Given the description of an element on the screen output the (x, y) to click on. 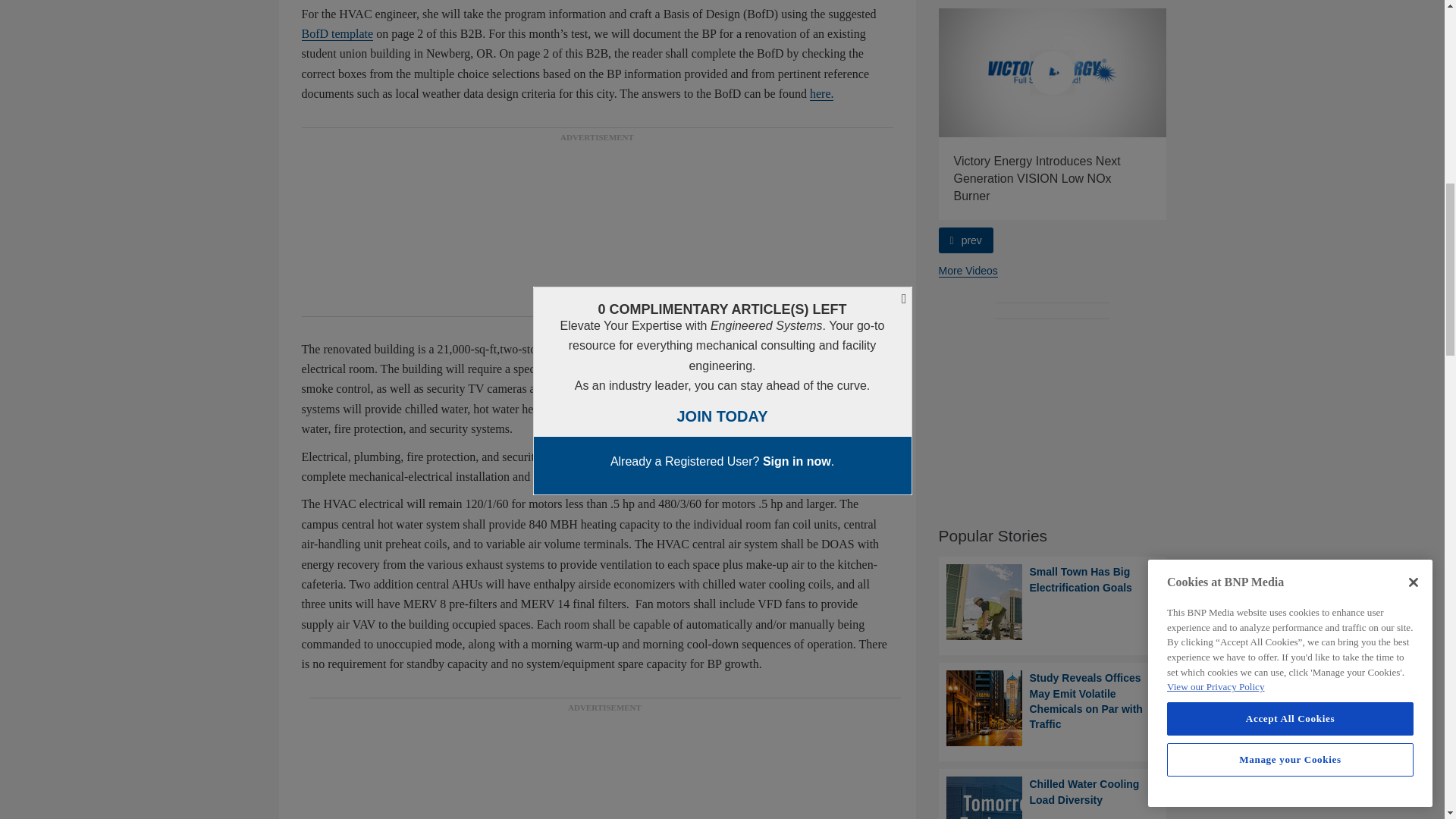
Small Town Has Big Electrification Goals (1052, 601)
Chilled Water Cooling Load Diversity (1052, 797)
Preferred Unveiling! (825, 72)
